Given the description of an element on the screen output the (x, y) to click on. 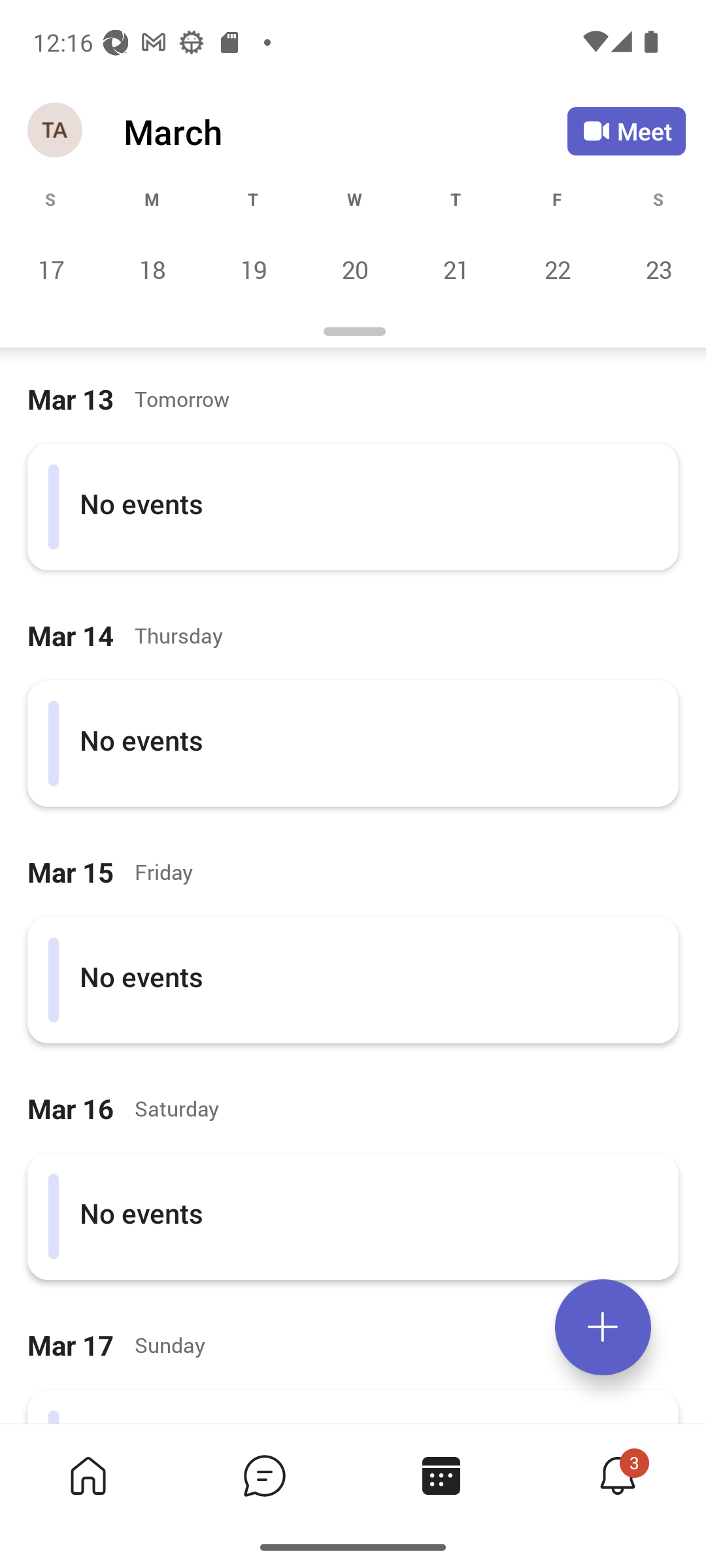
Navigation (56, 130)
Meet Meet now or join with an ID (626, 130)
March March Calendar Agenda View (345, 131)
Sunday, March 17 17 (50, 269)
Monday, March 18 18 (151, 269)
Tuesday, March 19 19 (253, 269)
Wednesday, March 20 20 (354, 269)
Thursday, March 21 21 (455, 269)
Friday, March 22 22 (556, 269)
Saturday, March 23 23 (656, 269)
Expand meetings menu (602, 1327)
Home tab,1 of 4, not selected (88, 1475)
Chat tab,2 of 4, not selected (264, 1475)
Calendar tab, 3 of 4 (441, 1475)
Activity tab,4 of 4, not selected, 3 new 3 (617, 1475)
